Given the description of an element on the screen output the (x, y) to click on. 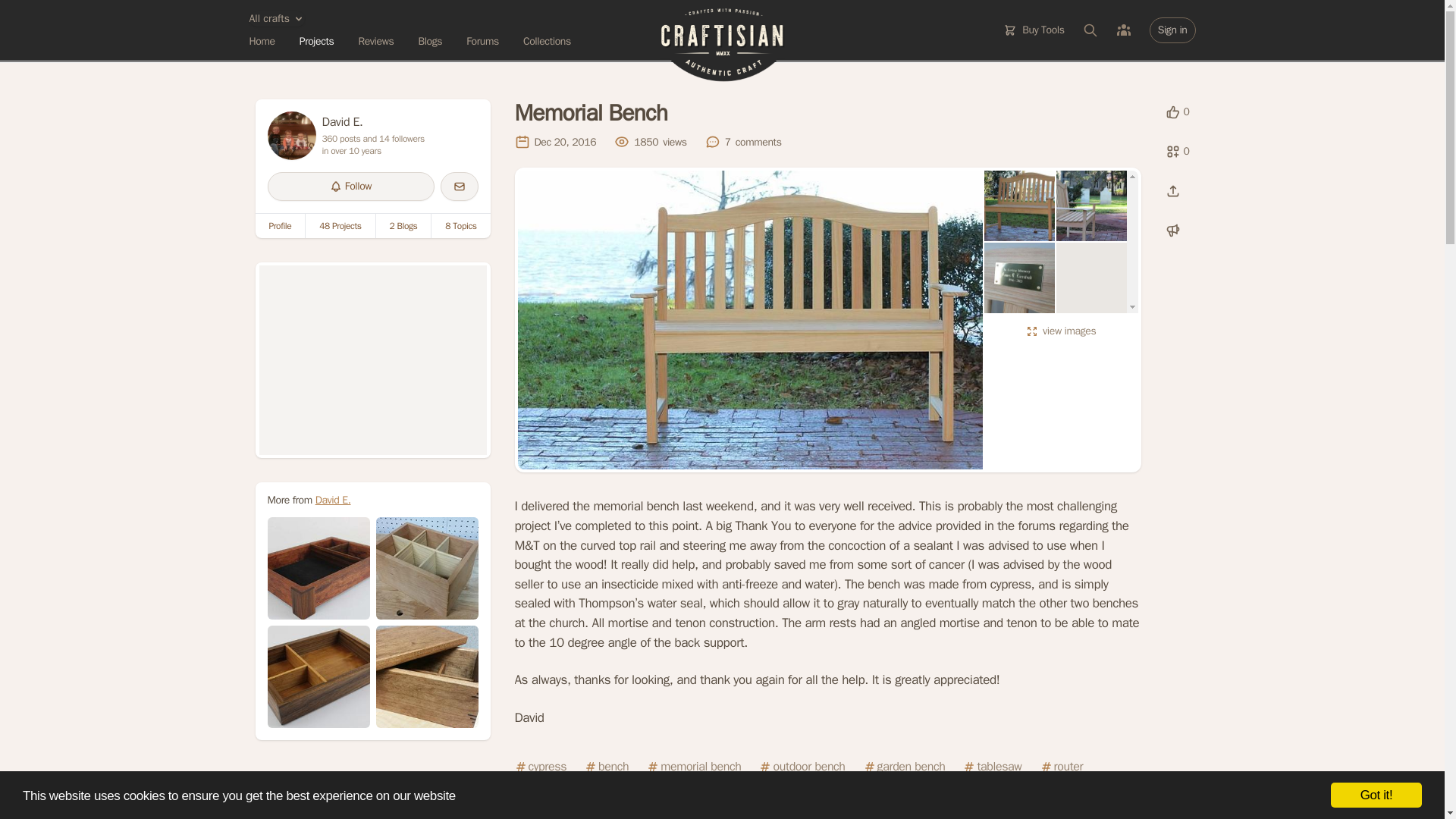
All crafts (276, 18)
Craftisian (721, 44)
Online members (1123, 30)
Forums (482, 41)
Home (261, 41)
Reviews (375, 41)
Blogs (429, 41)
Collections (546, 41)
Buy Tools (1034, 29)
Sign in (1172, 30)
Projects (316, 41)
